Given the description of an element on the screen output the (x, y) to click on. 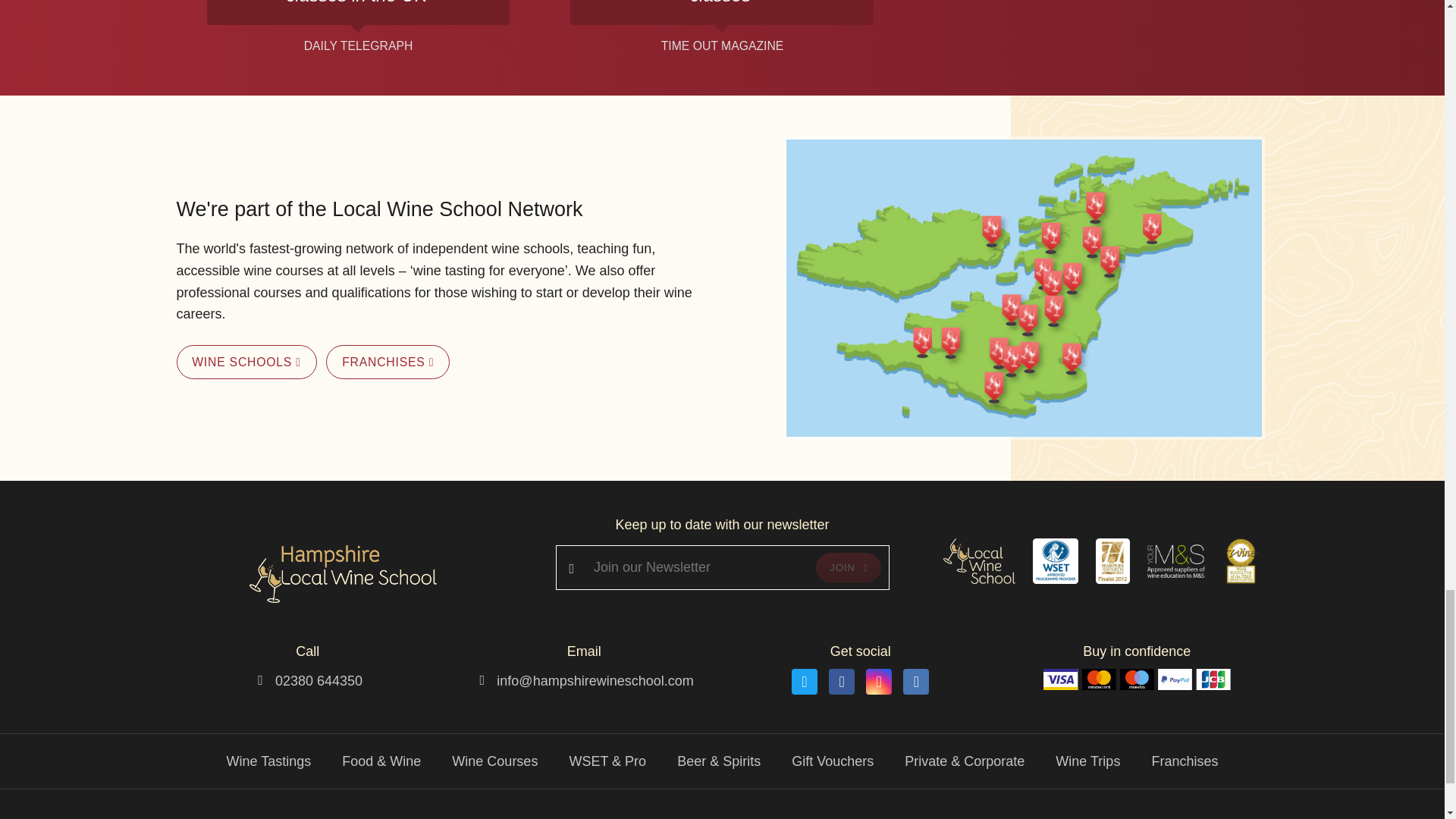
Visit our Twitter (804, 681)
Visit our LinkedIn (915, 681)
Send us an email (594, 679)
Visit our Instagram (878, 681)
Visit our Facebook (841, 681)
Call us (318, 679)
